Given the description of an element on the screen output the (x, y) to click on. 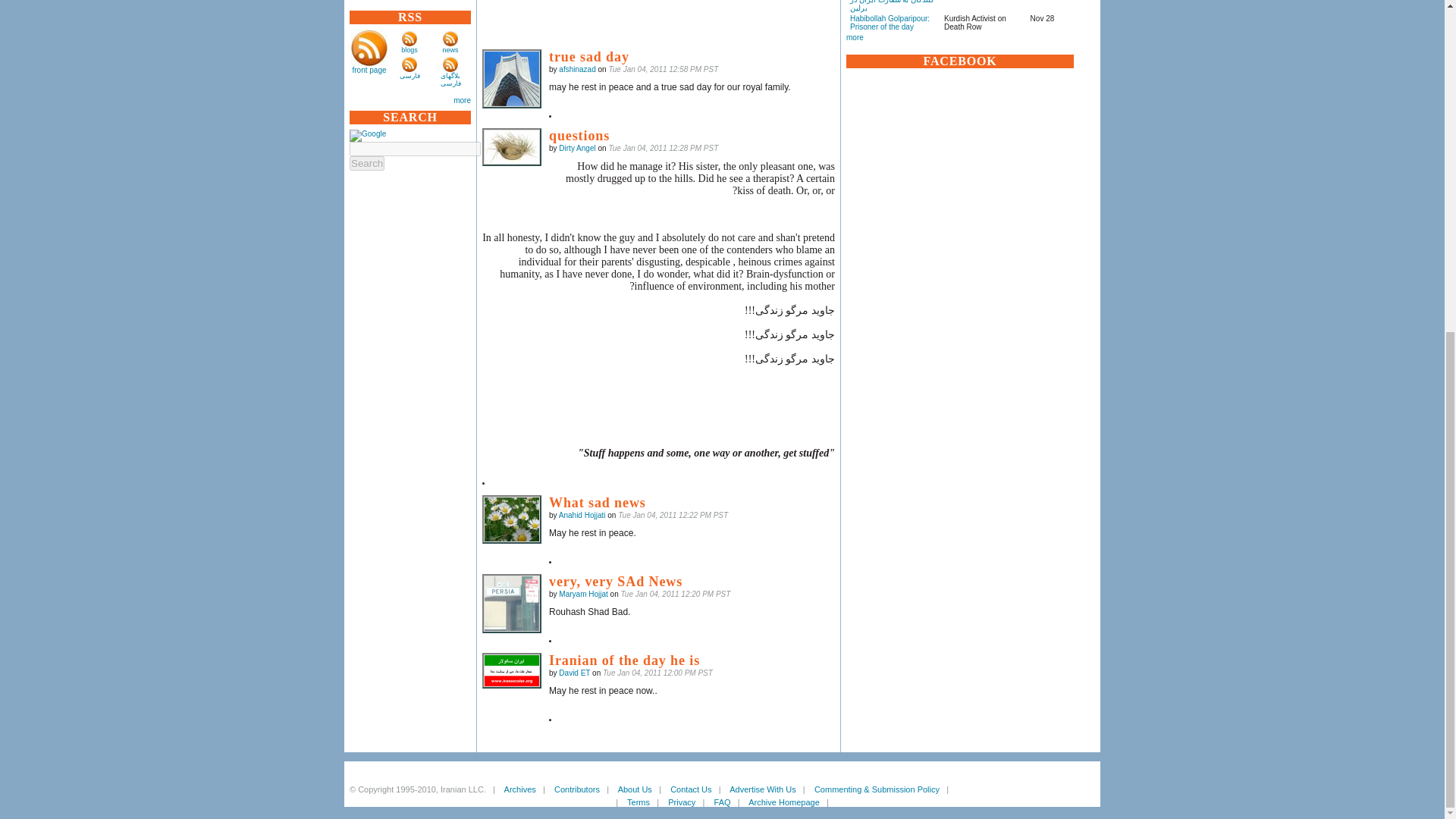
Maryam Hojjat (511, 603)
news (450, 49)
View user profile. (577, 148)
blogs (409, 49)
front page (368, 70)
Anahid Hojjati (511, 519)
View user profile. (582, 515)
Search (366, 163)
Dirty Angel (511, 146)
David ET (511, 670)
afshinazad (511, 78)
View user profile. (574, 673)
View user profile. (583, 593)
Google (367, 135)
View user profile. (577, 69)
